Given the description of an element on the screen output the (x, y) to click on. 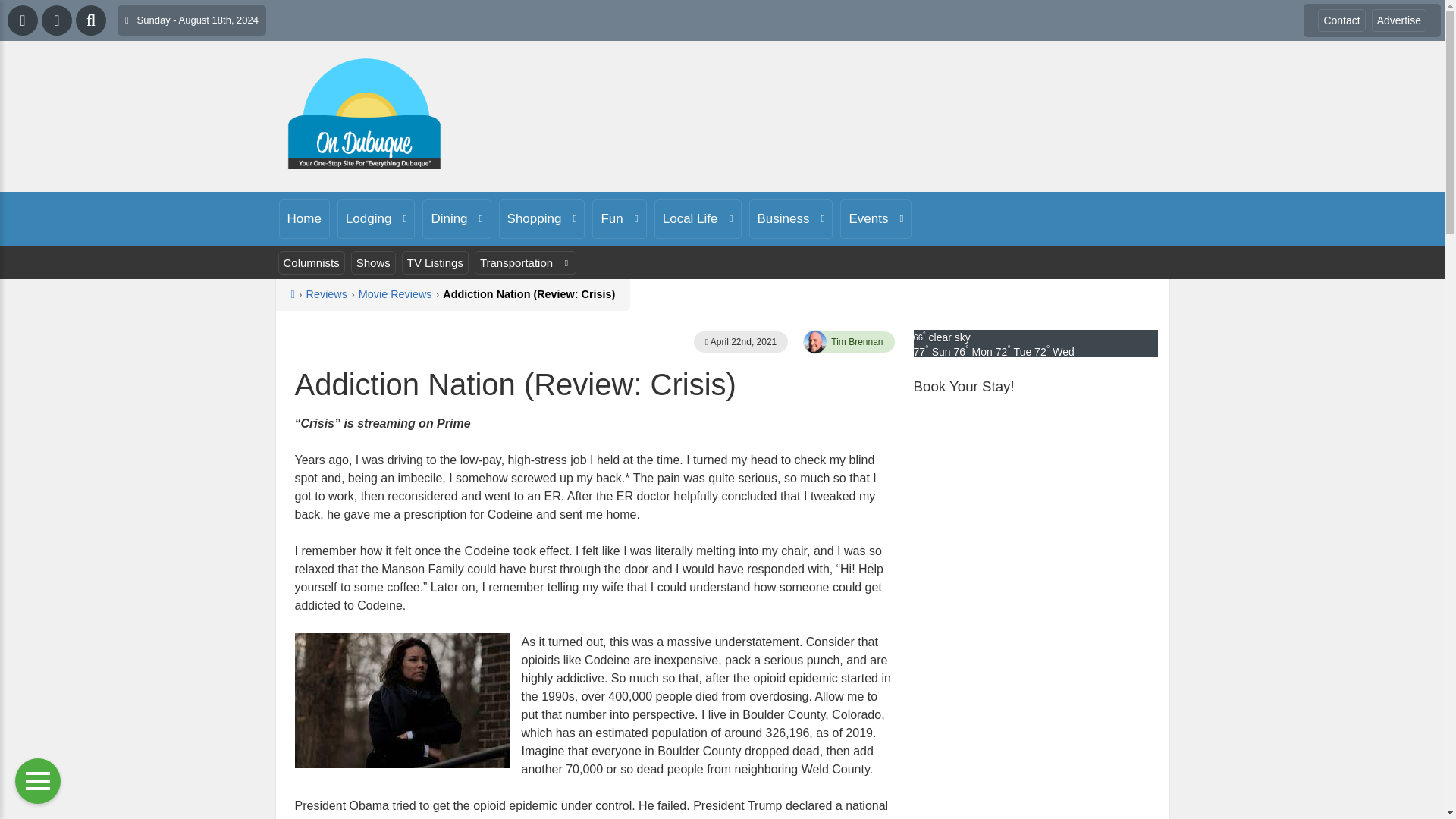
Contact (1341, 20)
Shopping (542, 219)
On Dubuque (364, 113)
Lodging (375, 219)
Dining (456, 219)
Home (304, 219)
Advertise (1398, 20)
Fun (619, 219)
